Given the description of an element on the screen output the (x, y) to click on. 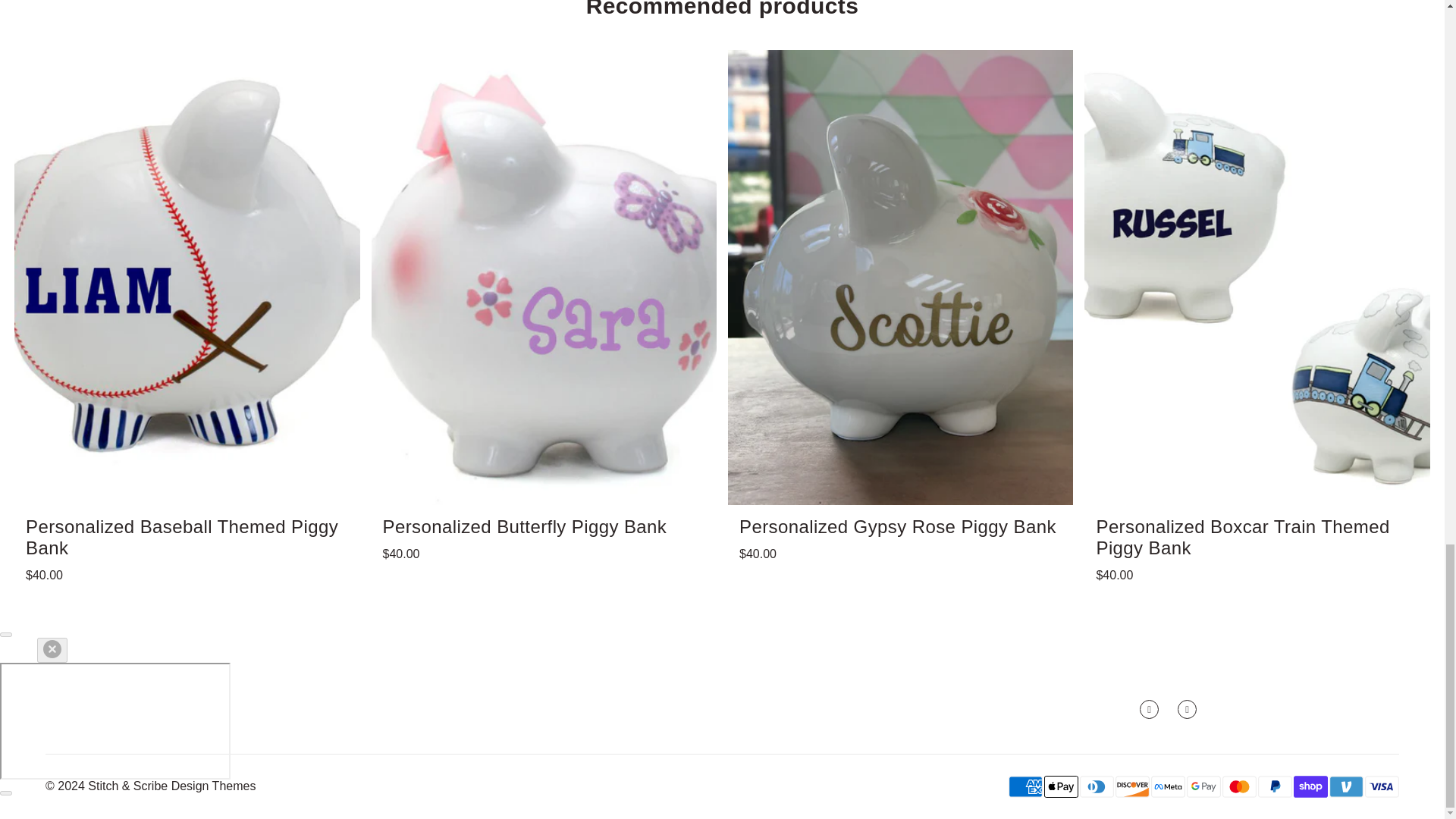
Linkedin (1149, 709)
Shop Pay (1310, 786)
Meta Pay (1168, 786)
American Express (1025, 786)
Visa (1382, 786)
Google Pay (1203, 786)
Discover (1132, 786)
Mastercard (1239, 786)
Apple Pay (1060, 786)
Diners Club (1096, 786)
Instagram (1186, 709)
Venmo (1345, 786)
PayPal (1274, 786)
